Given the description of an element on the screen output the (x, y) to click on. 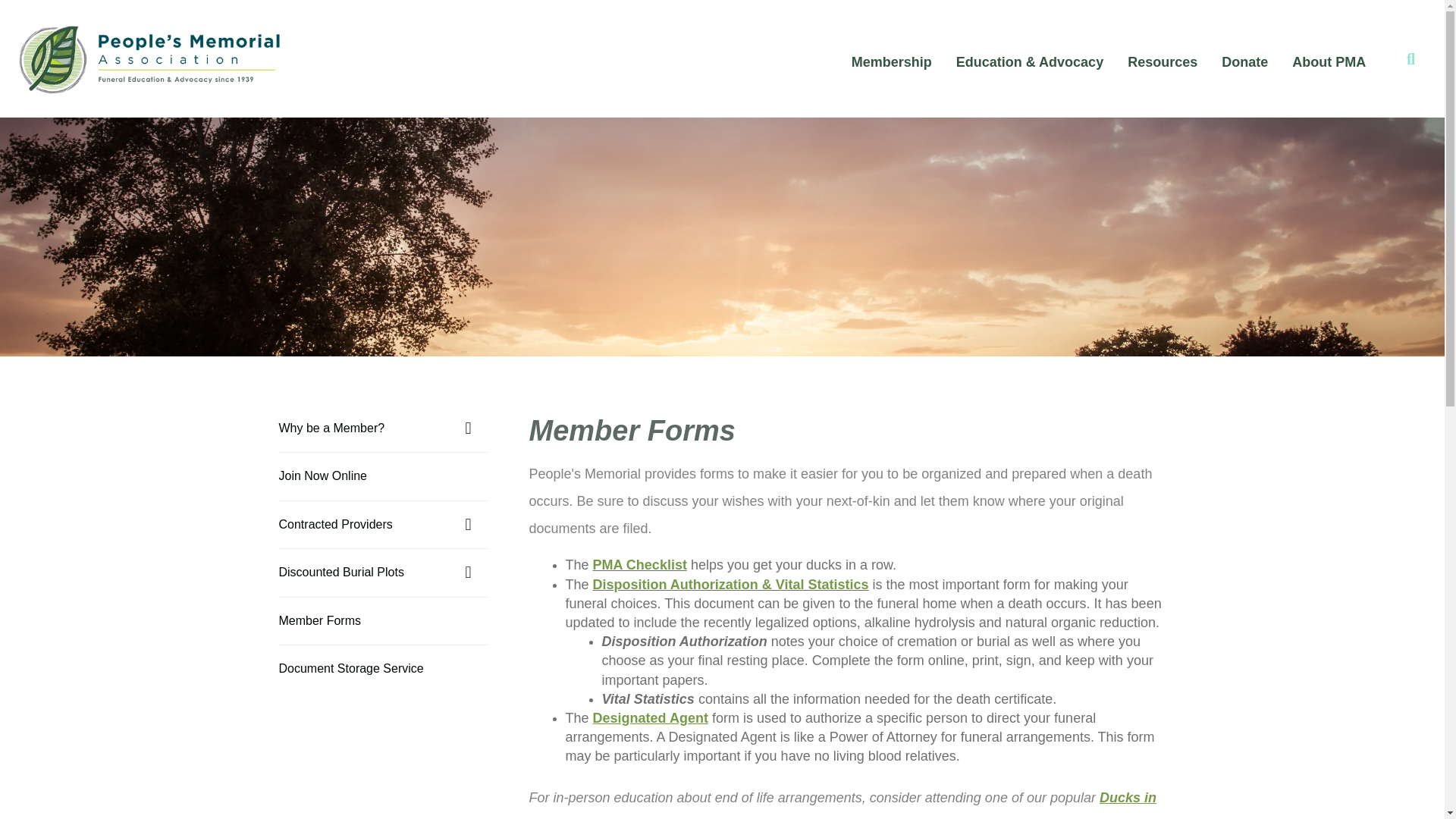
logo (148, 58)
